Given the description of an element on the screen output the (x, y) to click on. 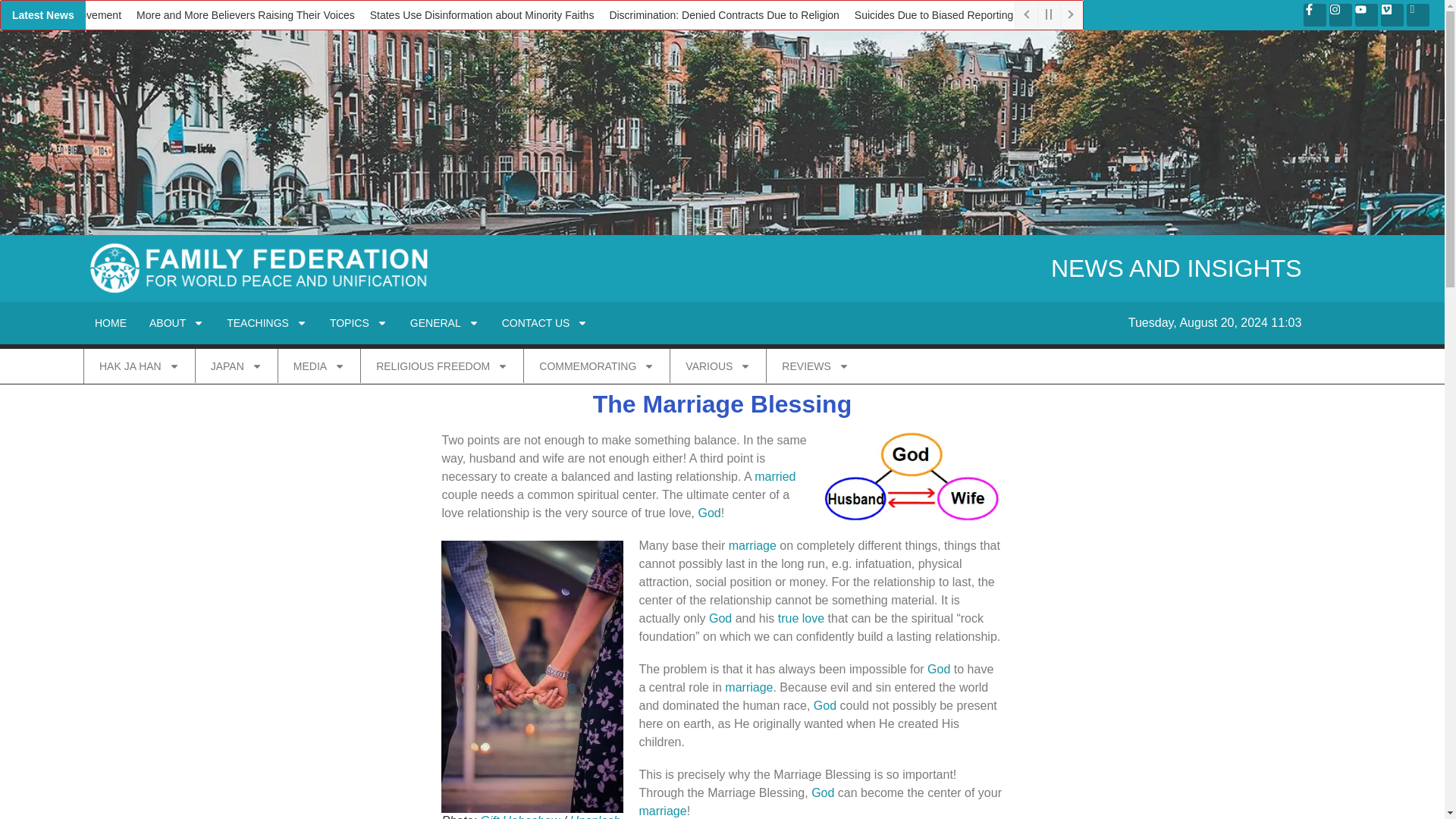
Suicides Due to Biased Reporting by Media (957, 14)
Discrimination: Denied Contracts Due to Religion (723, 14)
States Use Disinformation about Minority Faiths (482, 14)
Symposium with 2 Authors of Books on Movement (64, 14)
NEWS AND INSIGHTS (1176, 267)
More and More Believers Raising Their Voices (245, 14)
HOME (110, 322)
